Given the description of an element on the screen output the (x, y) to click on. 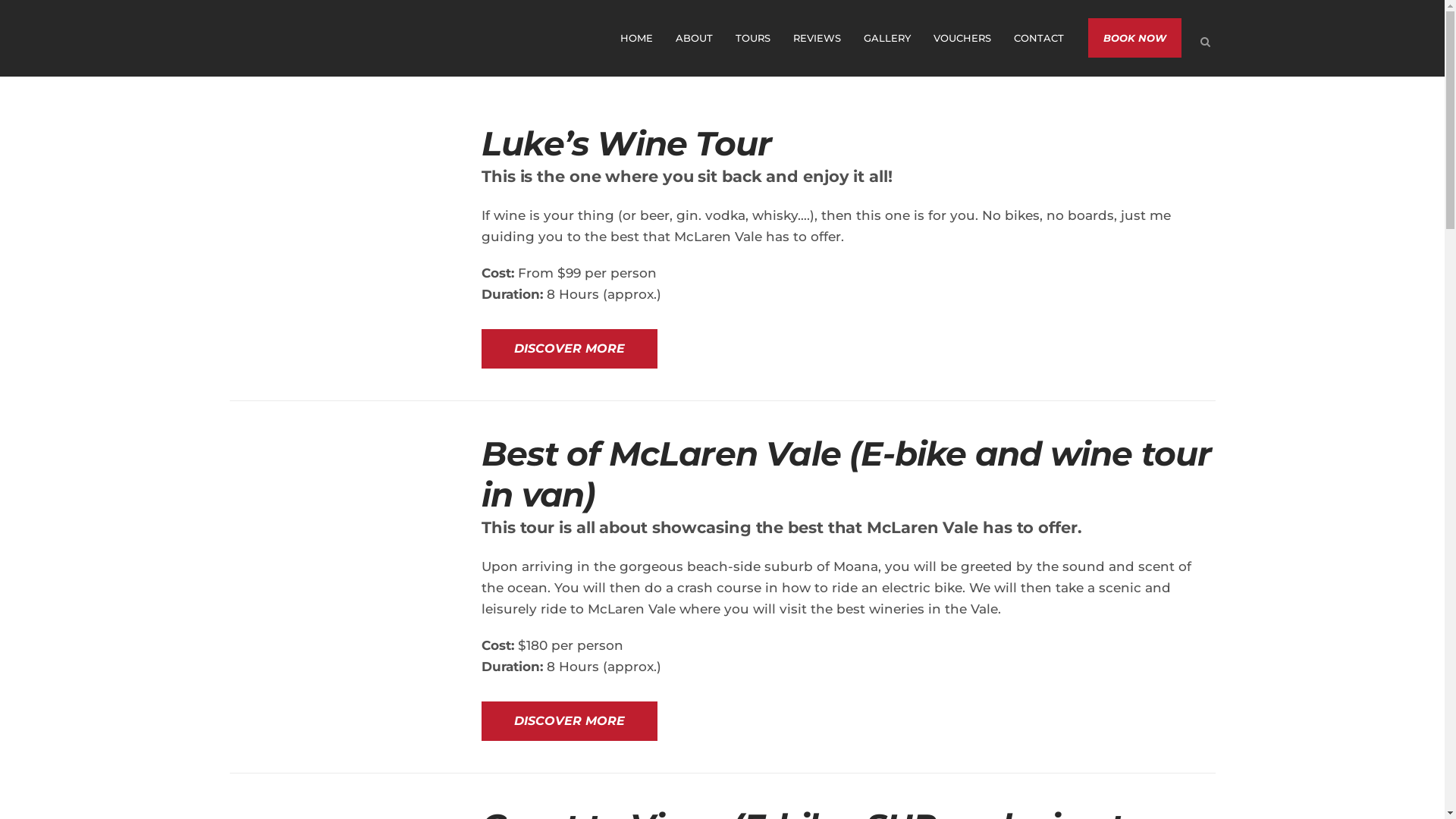
DISCOVER MORE Element type: text (569, 720)
TOURS Element type: text (752, 37)
HOME Element type: text (635, 37)
DISCOVER MORE Element type: text (569, 348)
VOUCHERS Element type: text (962, 37)
ABOUT Element type: text (694, 37)
BOOK NOW Element type: text (1133, 37)
CONTACT Element type: text (1038, 37)
REVIEWS Element type: text (816, 37)
GALLERY Element type: text (887, 37)
